Given the description of an element on the screen output the (x, y) to click on. 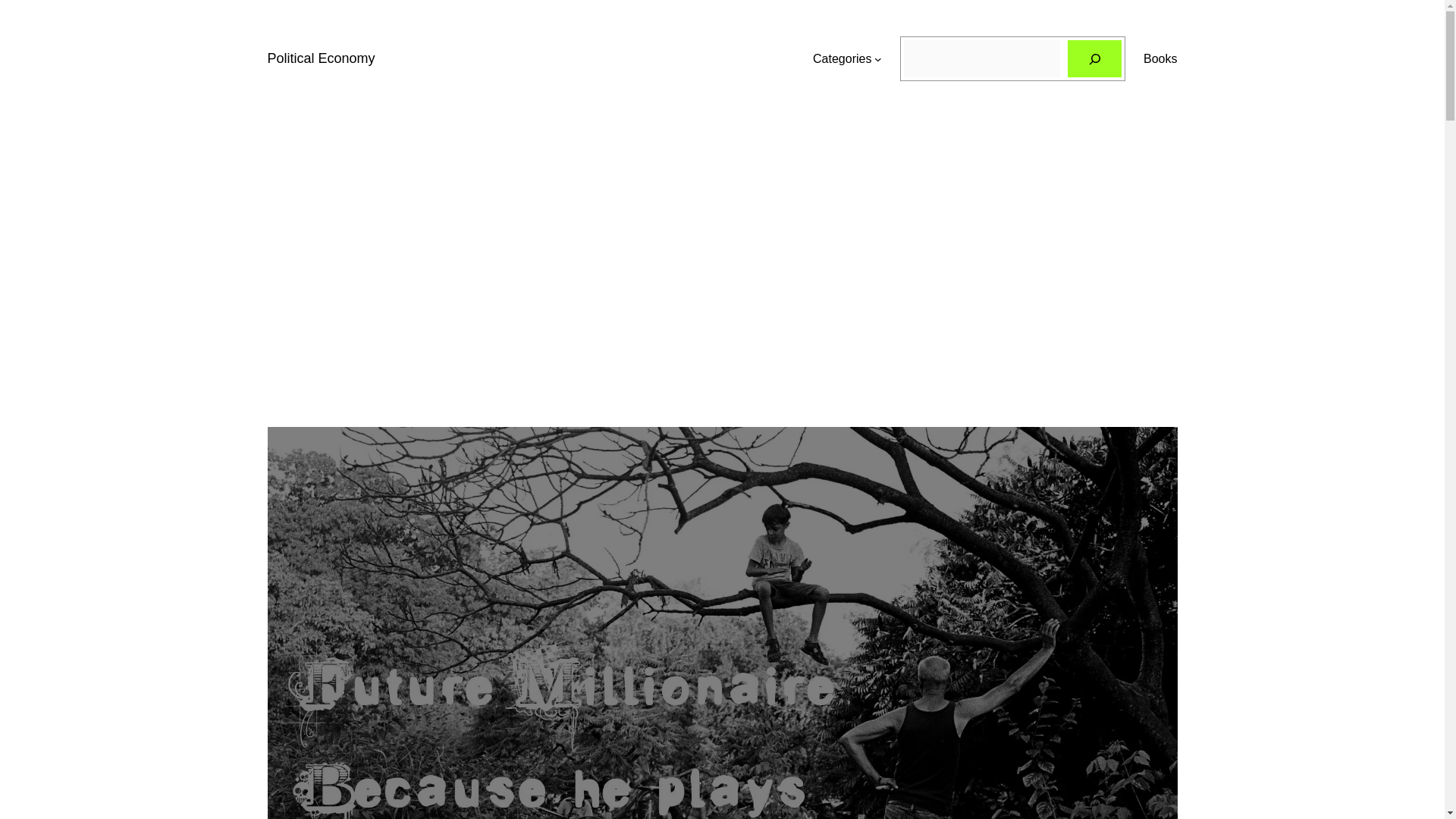
Adam Smith (841, 58)
Categories (841, 58)
Books (1159, 58)
Political Economy (320, 58)
